Given the description of an element on the screen output the (x, y) to click on. 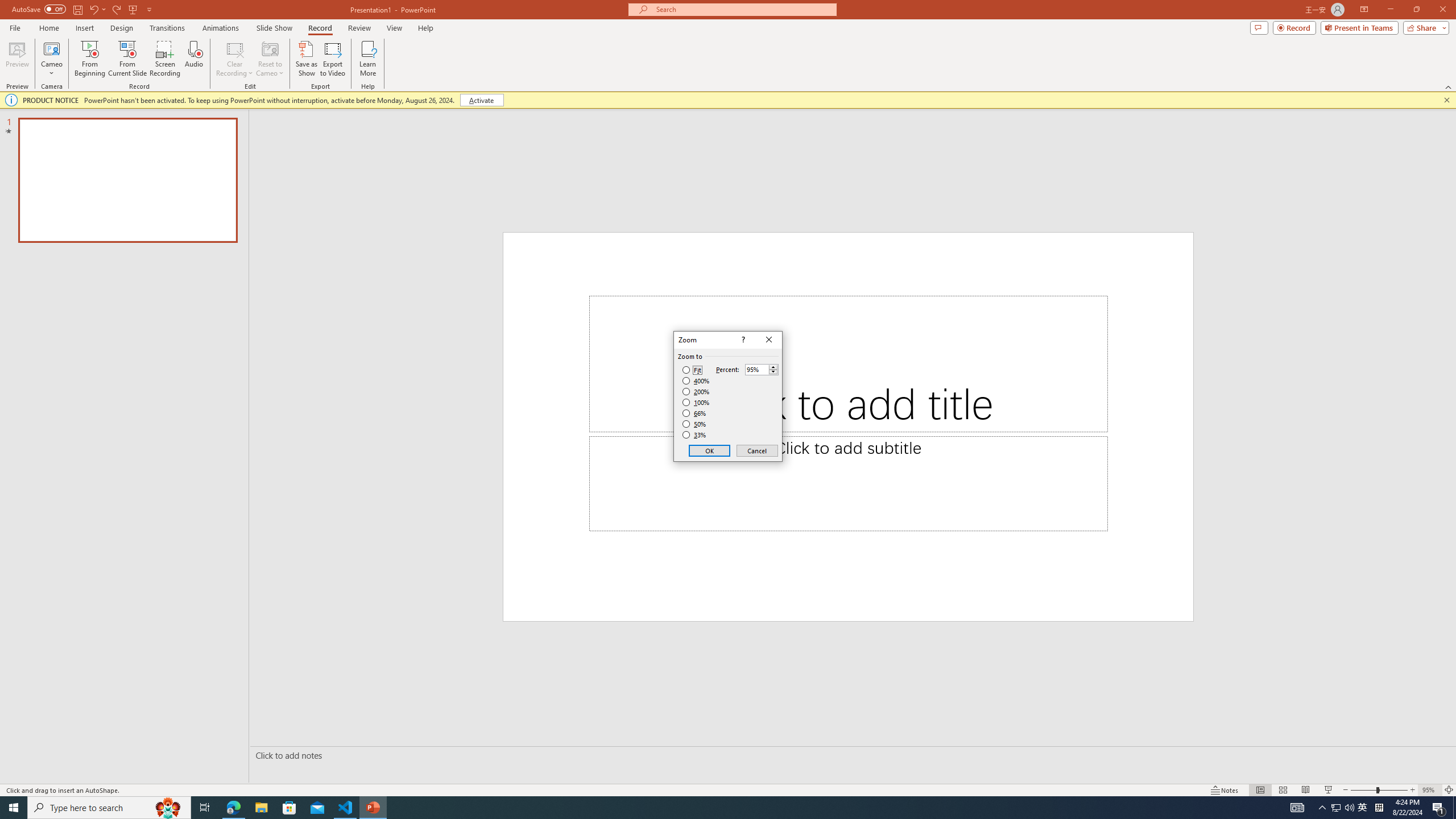
Percent (756, 369)
